Given the description of an element on the screen output the (x, y) to click on. 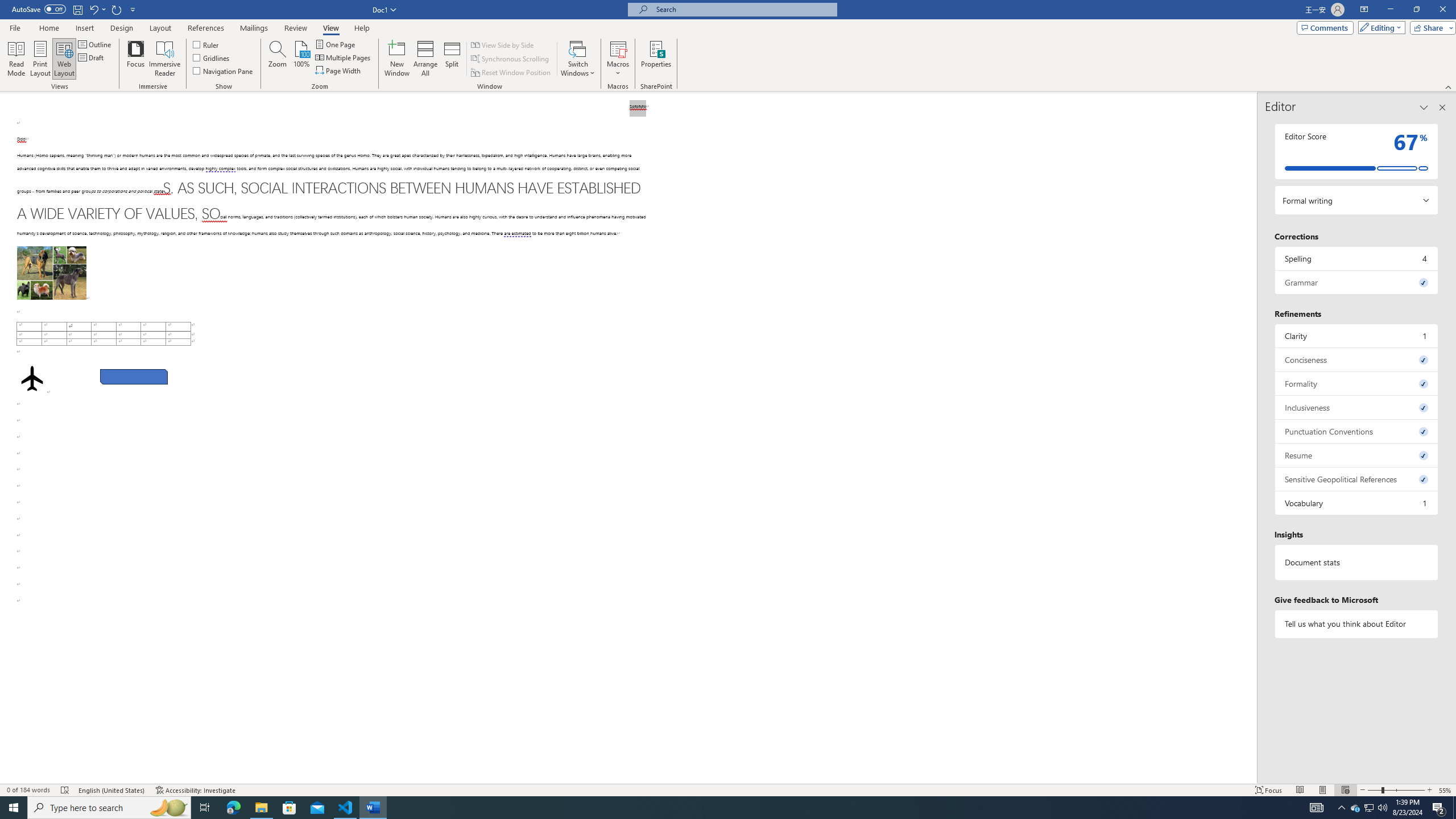
Zoom 55% (1445, 790)
Grammar, 0 issues. Press space or enter to review items. (1356, 282)
Zoom... (276, 58)
Properties (655, 58)
Immersive Reader (165, 58)
Document statistics (1356, 561)
New Window (396, 58)
Draft (91, 56)
